Given the description of an element on the screen output the (x, y) to click on. 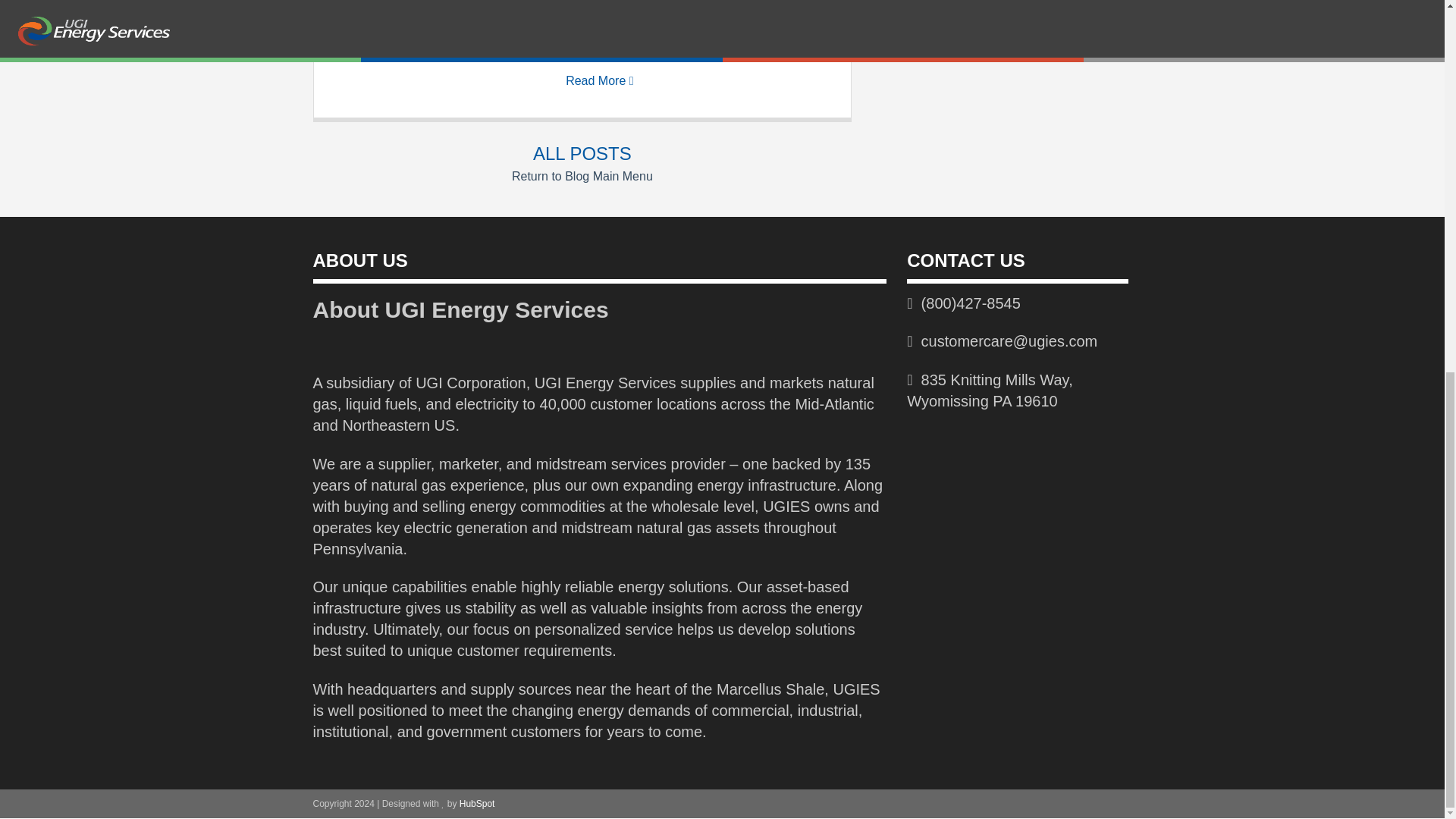
Return to Blog Main Menu (582, 175)
Read More (599, 80)
ALL POSTS (581, 153)
